Given the description of an element on the screen output the (x, y) to click on. 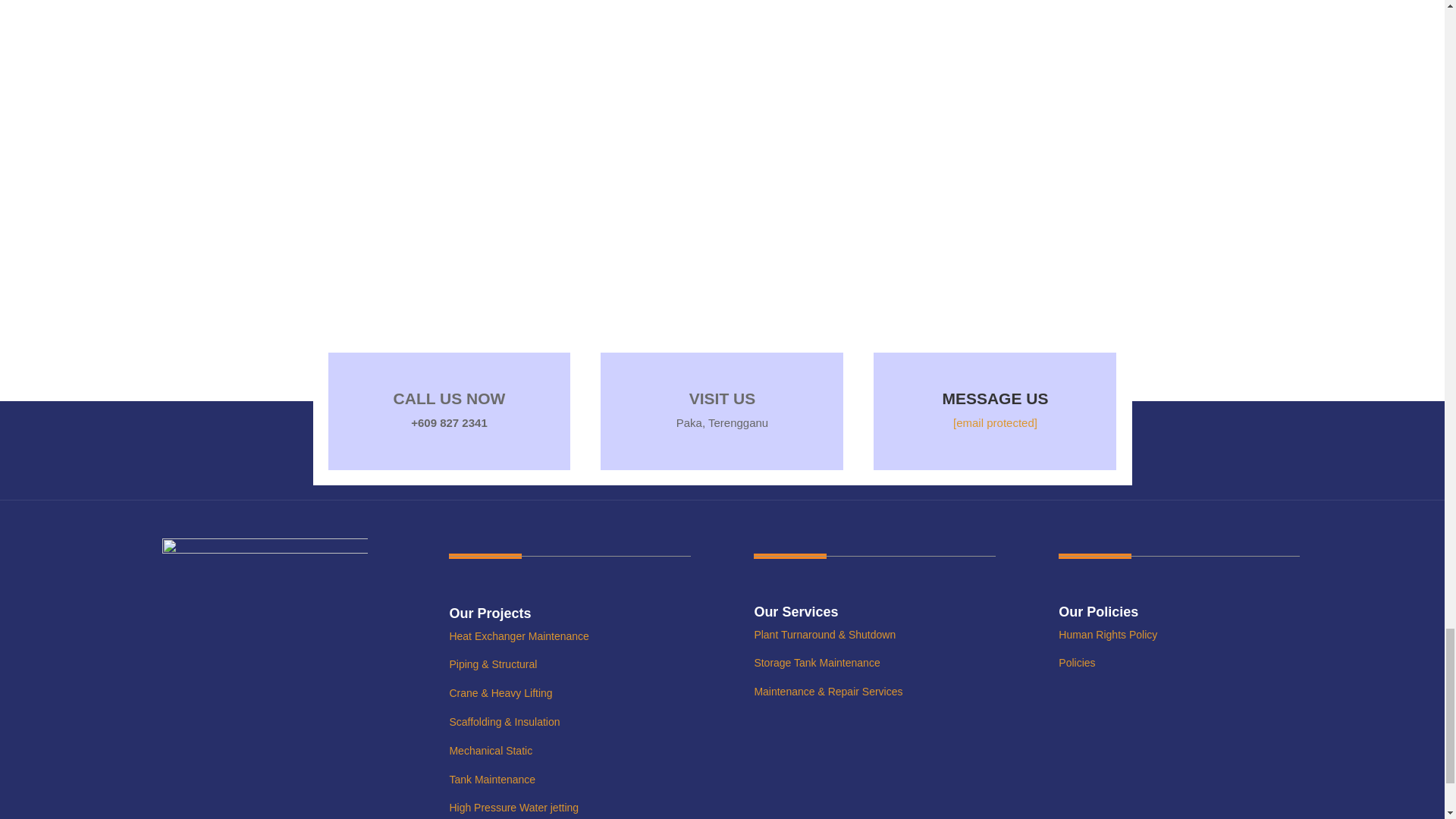
Policies (1076, 662)
Tank Maintenance (491, 779)
Storage Tank Maintenance (816, 662)
High Pressure Water jetting (513, 807)
Heat Exchanger Maintenance (518, 635)
Human Rights Policy (1107, 634)
Mechanical Static (490, 750)
